Given the description of an element on the screen output the (x, y) to click on. 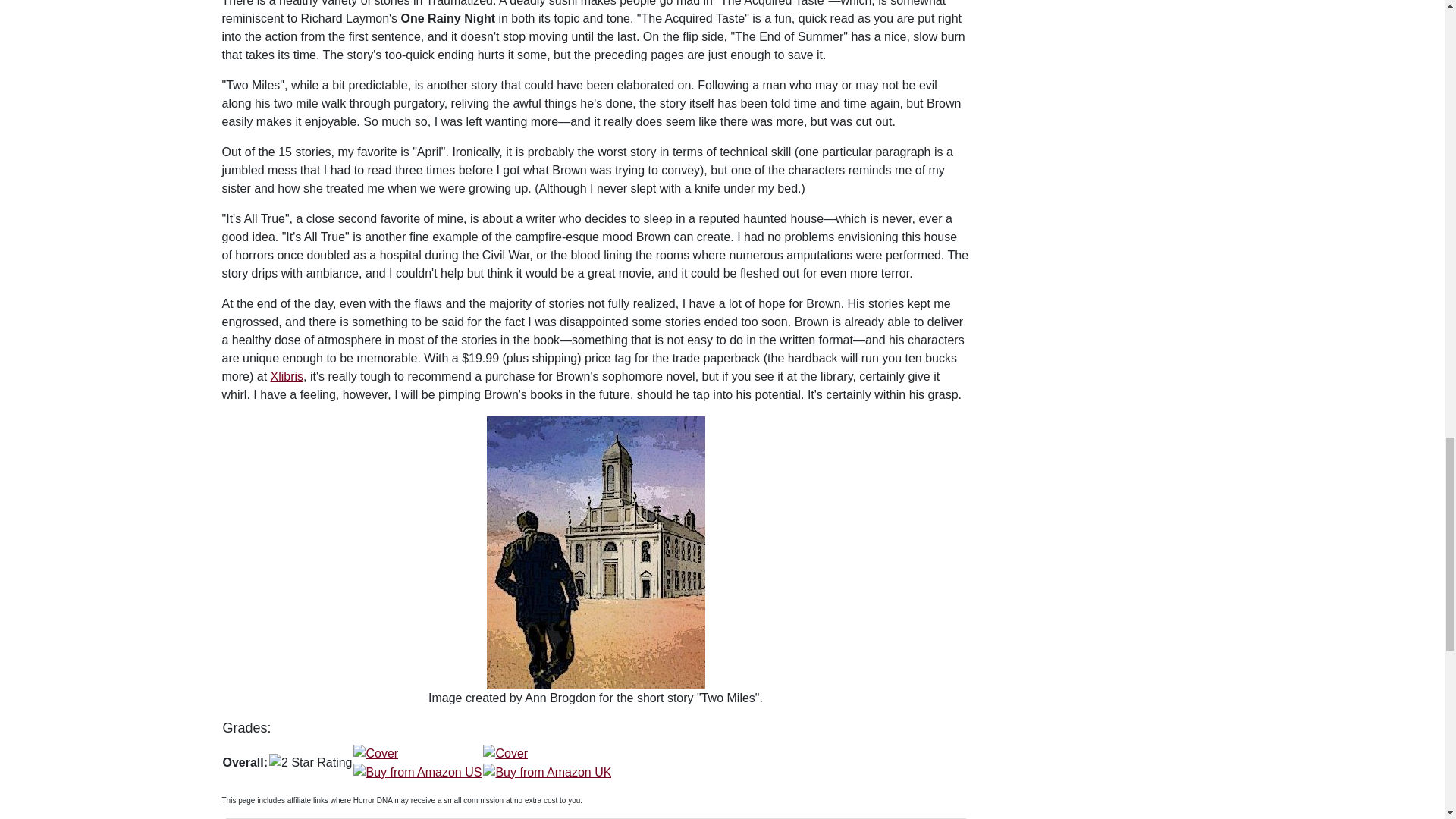
Buy at Amazon US. (417, 762)
Buy at Amazon UK. (547, 762)
Xlibris (287, 376)
